Given the description of an element on the screen output the (x, y) to click on. 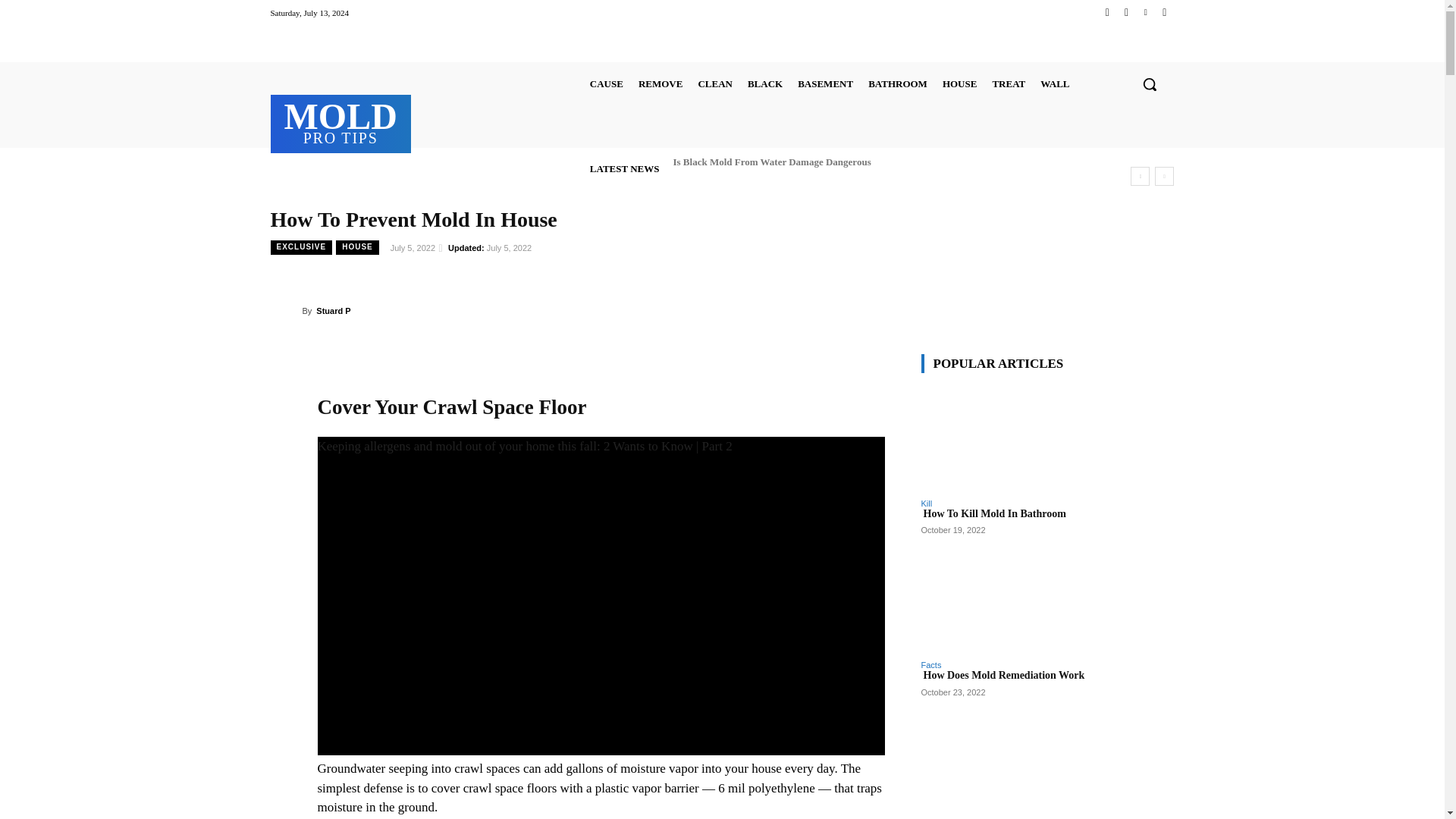
Is Black Mold From Water Damage Dangerous (770, 161)
Youtube (1163, 12)
Facebook (1106, 12)
Instagram (1125, 12)
Twitter (1144, 12)
